Given the description of an element on the screen output the (x, y) to click on. 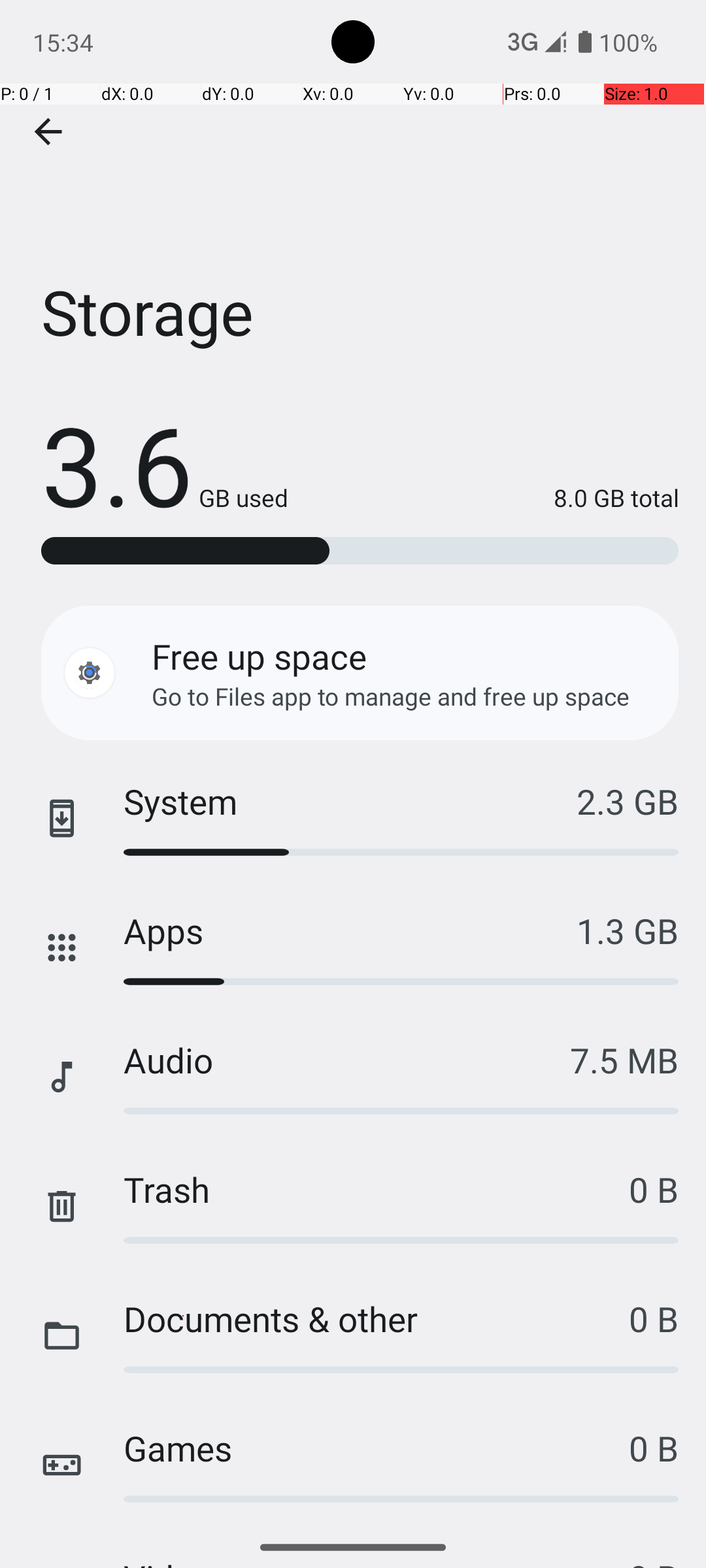
3.6 GB used Element type: android.widget.TextView (164, 463)
8.0 GB total Element type: android.widget.TextView (483, 497)
Free up space Element type: android.widget.TextView (258, 656)
Go to Files app to manage and free up space Element type: android.widget.TextView (390, 695)
2.3 GB Element type: android.widget.TextView (627, 801)
1.3 GB Element type: android.widget.TextView (627, 930)
7.5 MB Element type: android.widget.TextView (624, 1059)
0 B Element type: android.widget.TextView (653, 1189)
Documents & other Element type: android.widget.TextView (375, 1318)
Games Element type: android.widget.TextView (375, 1447)
